Given the description of an element on the screen output the (x, y) to click on. 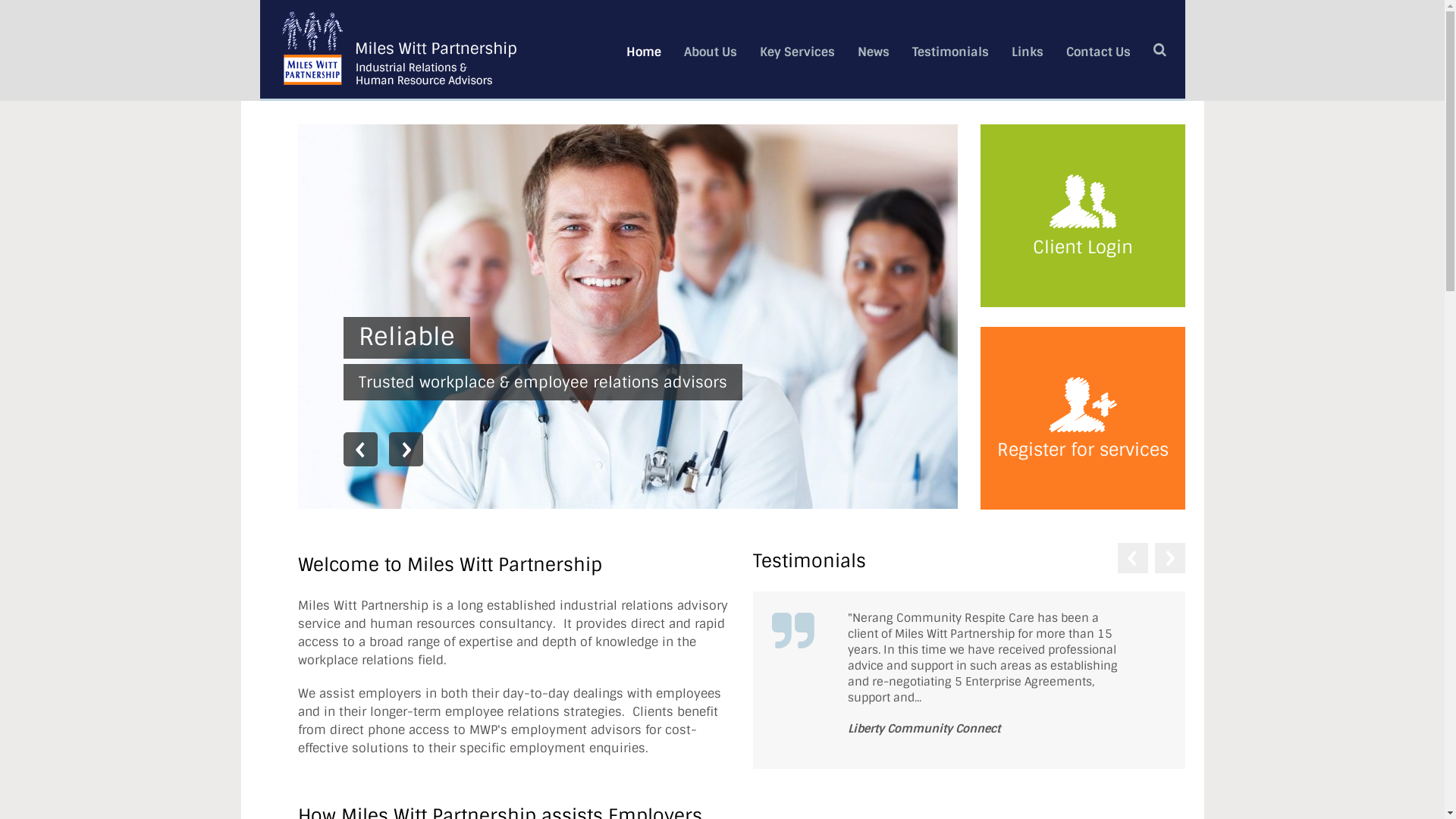
Home Element type: text (643, 51)
Key Services Element type: text (796, 51)
Links Element type: text (1027, 51)
Testimonials Element type: text (949, 51)
Client Login Element type: text (1081, 215)
News Element type: text (872, 51)
Register for services Element type: text (1081, 417)
About Us Element type: text (710, 51)
Contact Us Element type: text (1098, 51)
Responsive Element type: text (425, 335)
